Given the description of an element on the screen output the (x, y) to click on. 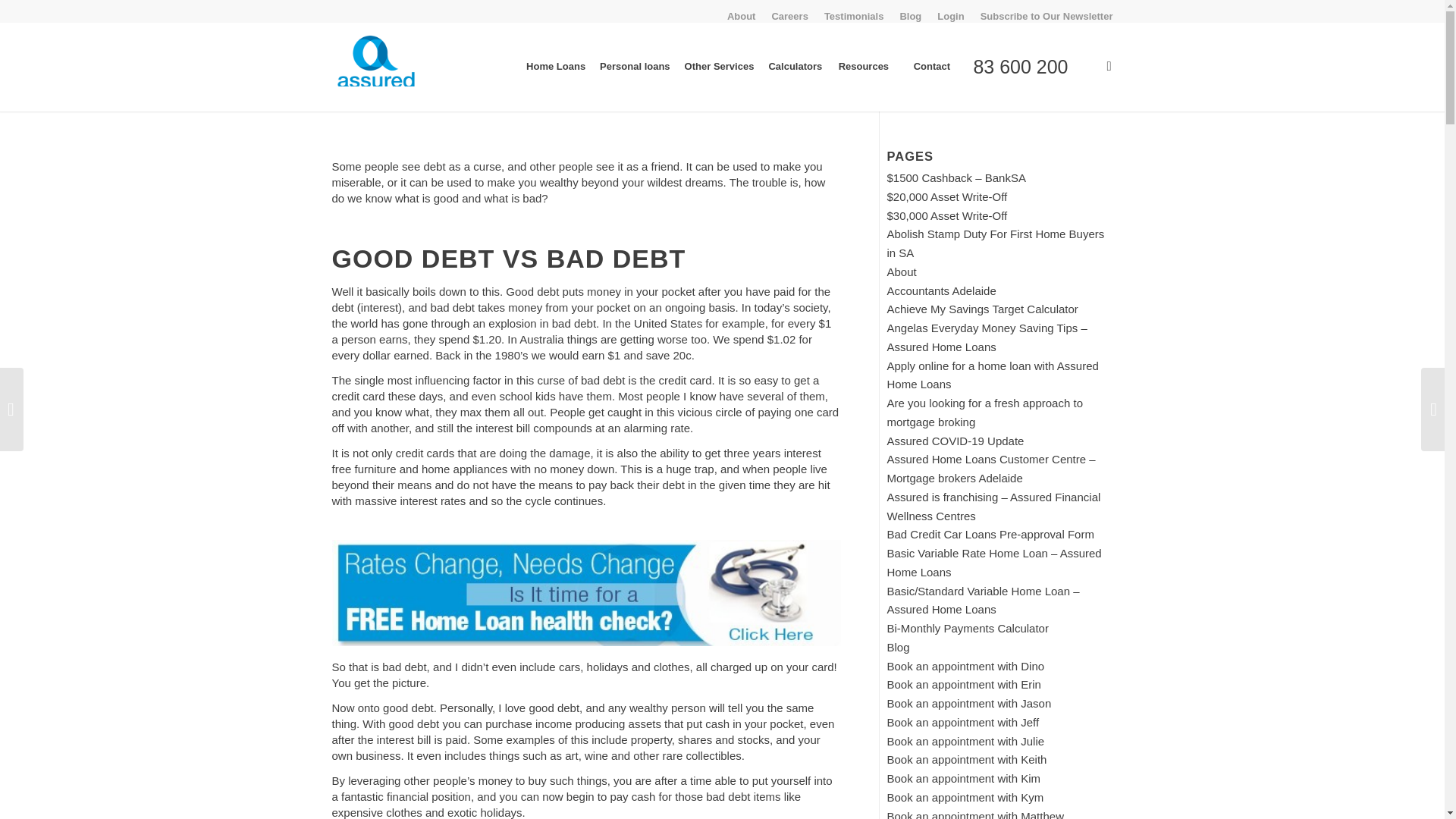
Login (950, 15)
Personal loans (634, 66)
Other Services (719, 66)
About (740, 15)
Careers (789, 15)
Testimonials (853, 15)
Blog (910, 15)
Subscribe to Our Newsletter (1046, 15)
